Given the description of an element on the screen output the (x, y) to click on. 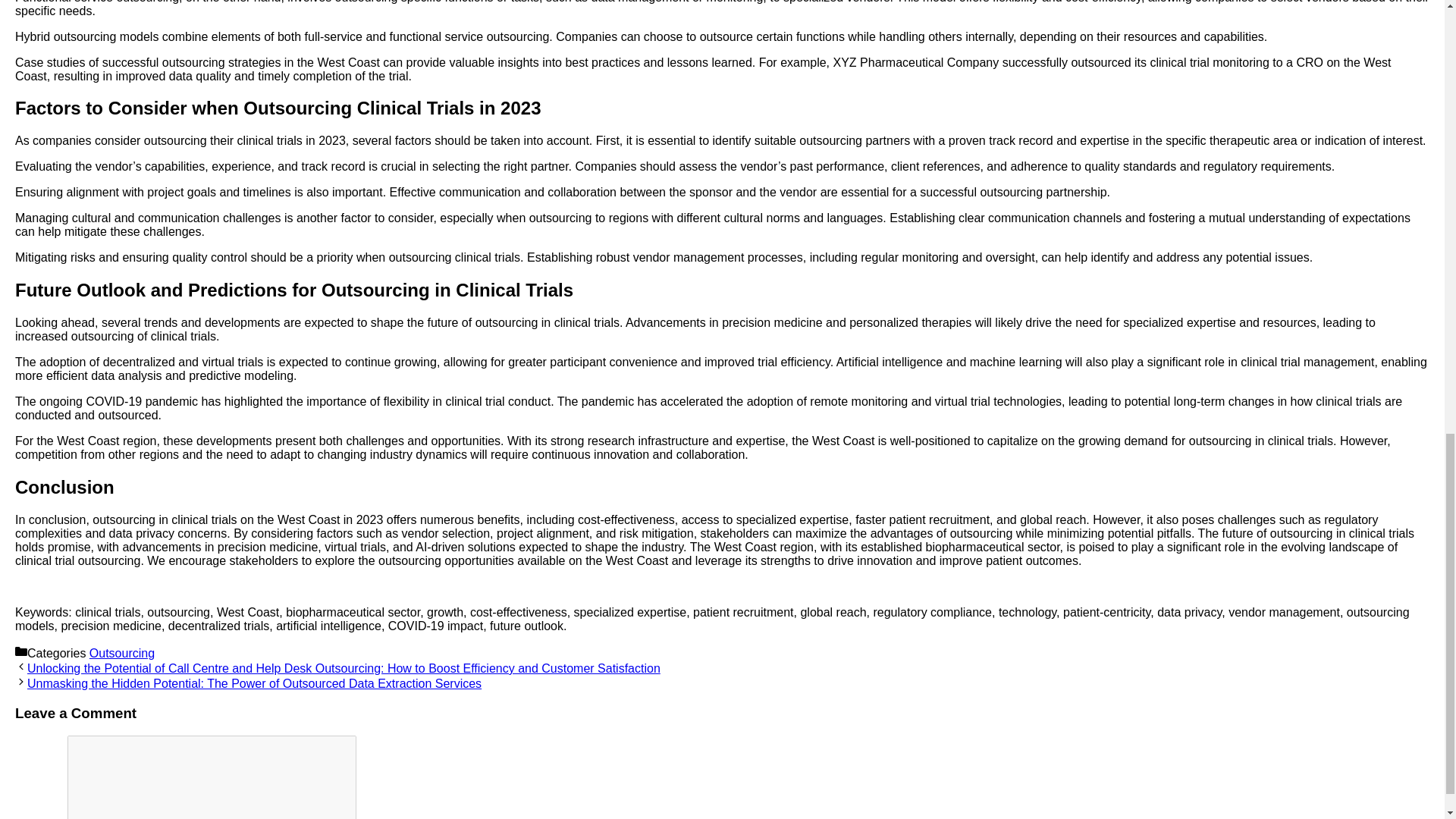
Outsourcing (121, 653)
